Given the description of an element on the screen output the (x, y) to click on. 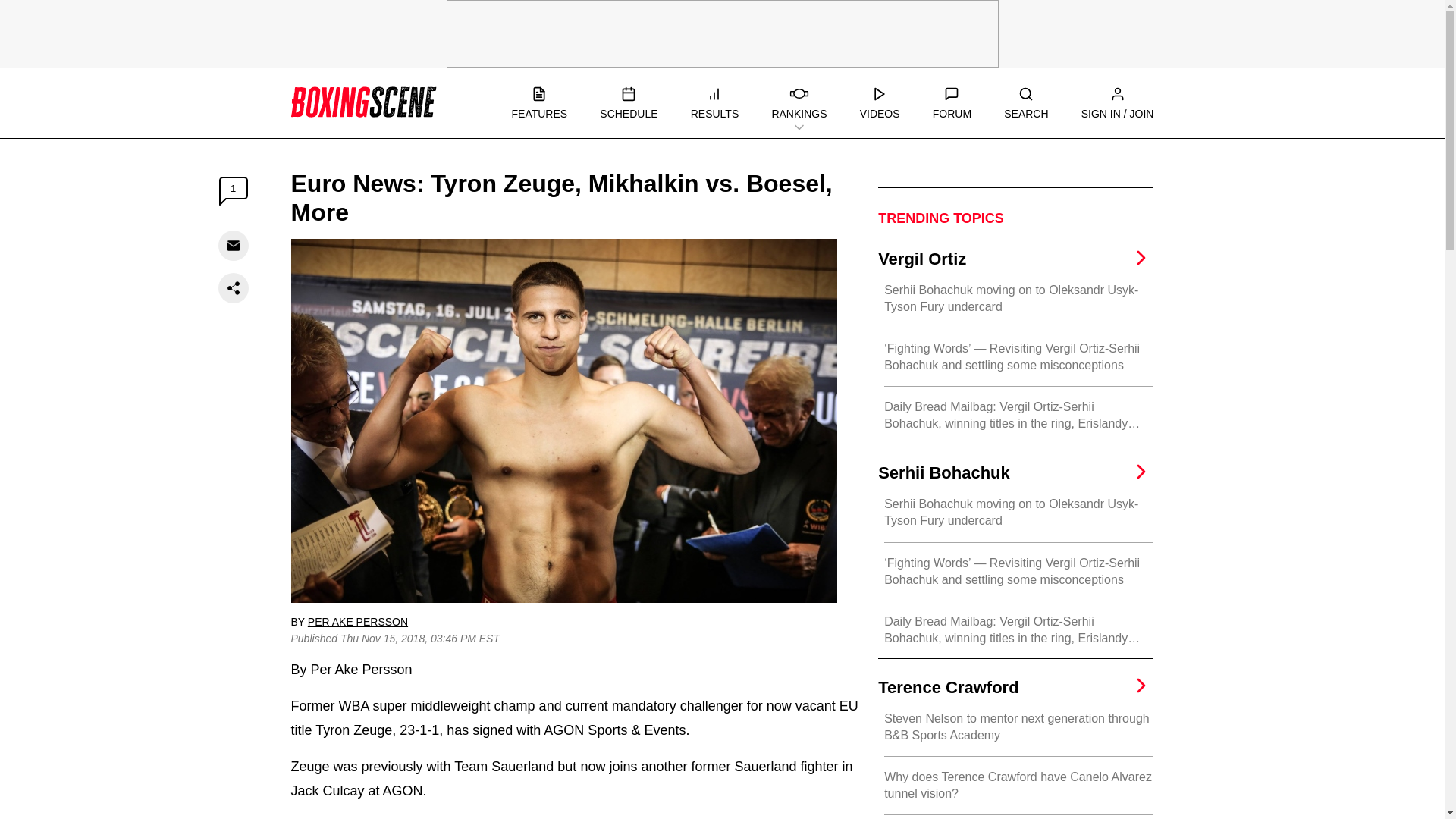
RANKINGS (799, 102)
1 (233, 191)
FORUM (952, 102)
PER AKE PERSSON (357, 621)
SEARCH (1026, 102)
RESULTS (714, 102)
SCHEDULE (628, 102)
3rd party ad content (721, 33)
FEATURES (539, 102)
VIDEOS (879, 102)
